Given the description of an element on the screen output the (x, y) to click on. 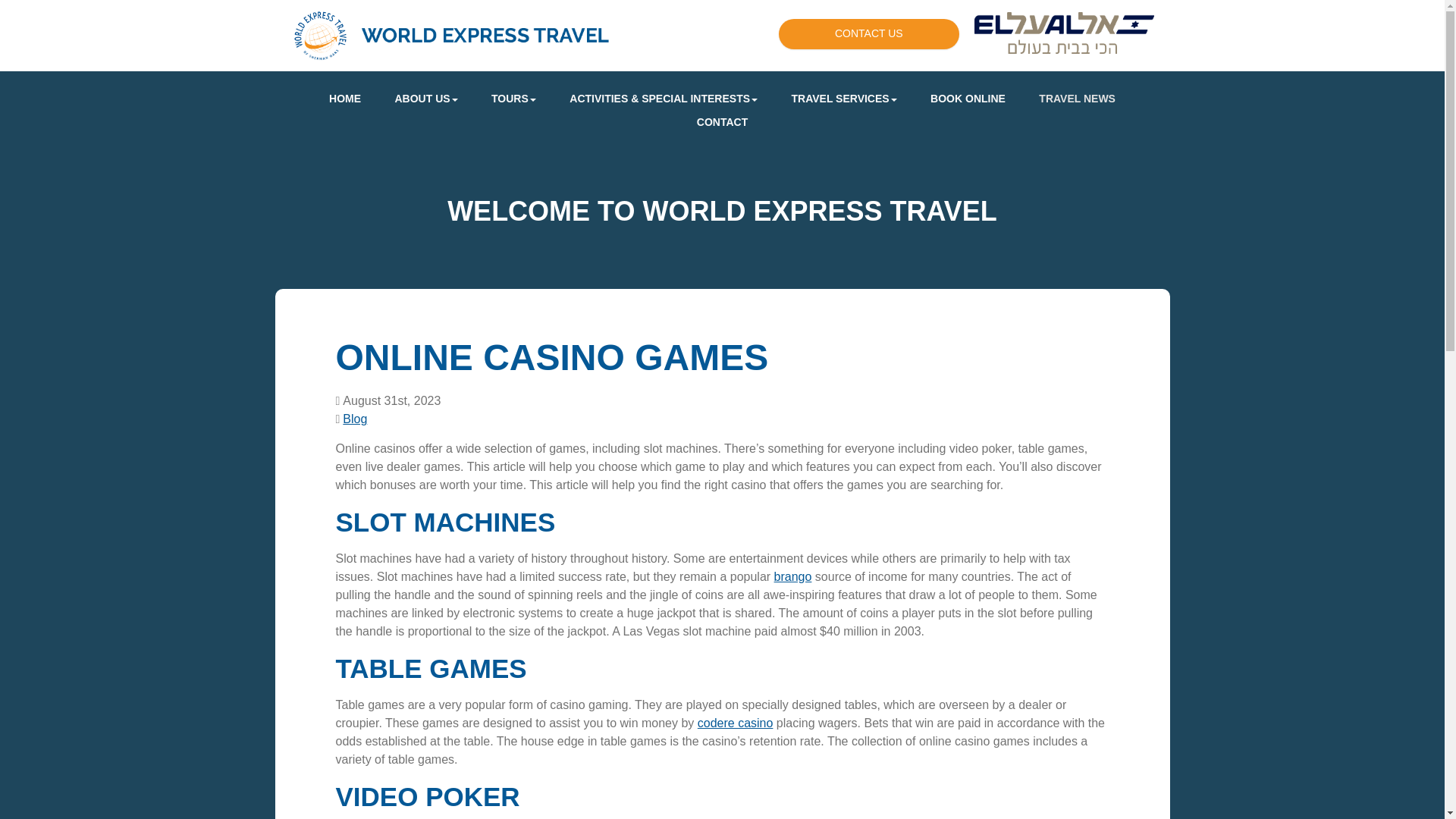
TRAVEL SERVICES (844, 98)
Date Published (387, 401)
TRAVEL NEWS (1077, 98)
BOOK ONLINE (967, 98)
ABOUT US (424, 98)
TOURS (513, 98)
CONTACT US (868, 33)
CONTACT (721, 122)
HOME (344, 98)
